Given the description of an element on the screen output the (x, y) to click on. 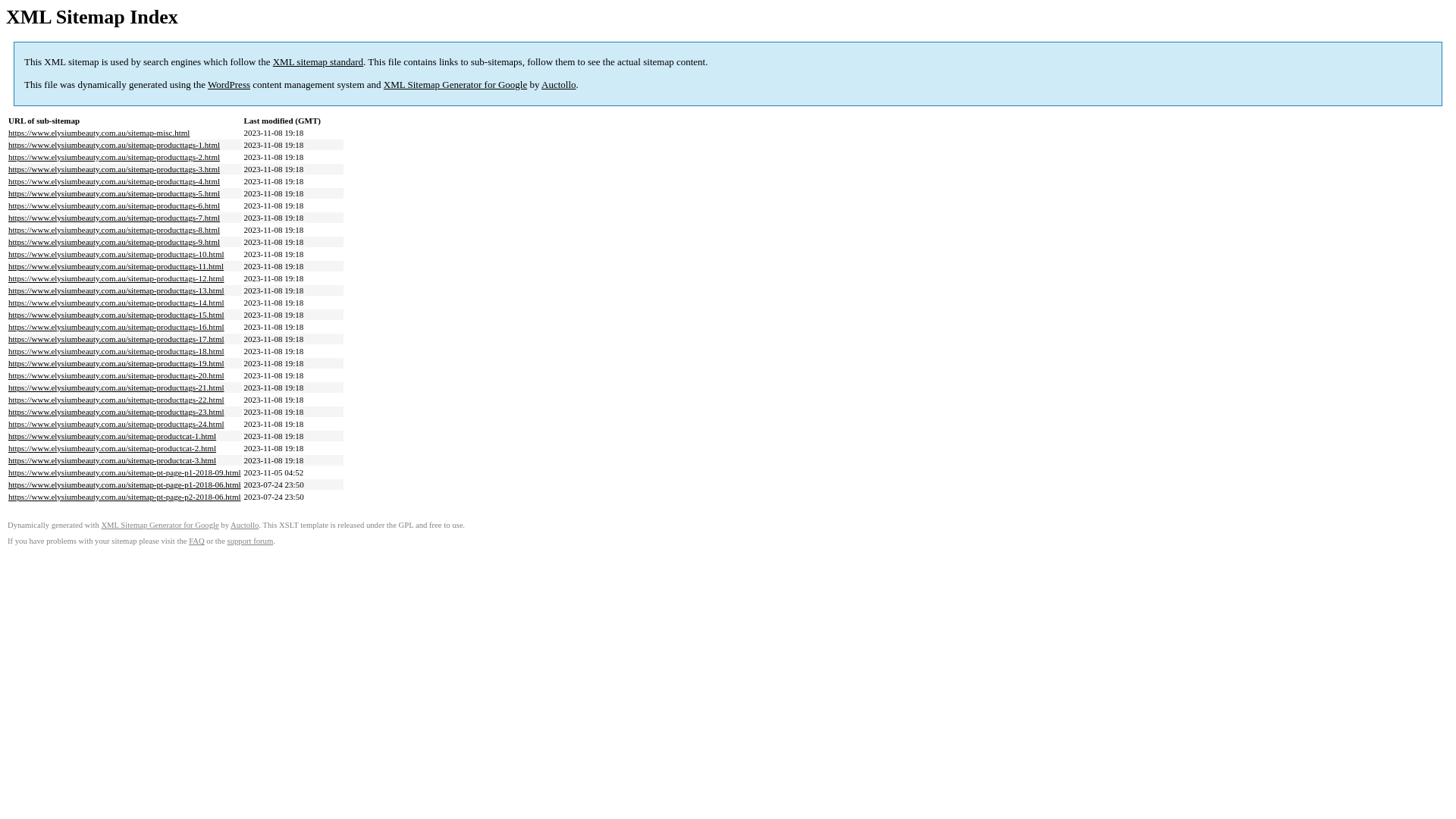
https://www.elysiumbeauty.com.au/sitemap-producttags-2.html Element type: text (113, 156)
XML Sitemap Generator for Google Element type: text (159, 524)
https://www.elysiumbeauty.com.au/sitemap-producttags-17.html Element type: text (116, 338)
https://www.elysiumbeauty.com.au/sitemap-producttags-16.html Element type: text (116, 326)
https://www.elysiumbeauty.com.au/sitemap-producttags-4.html Element type: text (113, 180)
https://www.elysiumbeauty.com.au/sitemap-producttags-23.html Element type: text (116, 411)
Auctollo Element type: text (244, 524)
https://www.elysiumbeauty.com.au/sitemap-producttags-12.html Element type: text (116, 277)
https://www.elysiumbeauty.com.au/sitemap-producttags-19.html Element type: text (116, 362)
https://www.elysiumbeauty.com.au/sitemap-misc.html Element type: text (98, 132)
https://www.elysiumbeauty.com.au/sitemap-producttags-1.html Element type: text (113, 144)
https://www.elysiumbeauty.com.au/sitemap-producttags-15.html Element type: text (116, 314)
https://www.elysiumbeauty.com.au/sitemap-productcat-2.html Element type: text (112, 447)
https://www.elysiumbeauty.com.au/sitemap-producttags-10.html Element type: text (116, 253)
Auctollo Element type: text (558, 84)
https://www.elysiumbeauty.com.au/sitemap-producttags-21.html Element type: text (116, 387)
XML Sitemap Generator for Google Element type: text (455, 84)
https://www.elysiumbeauty.com.au/sitemap-producttags-7.html Element type: text (113, 217)
https://www.elysiumbeauty.com.au/sitemap-producttags-13.html Element type: text (116, 289)
https://www.elysiumbeauty.com.au/sitemap-producttags-8.html Element type: text (113, 229)
https://www.elysiumbeauty.com.au/sitemap-producttags-22.html Element type: text (116, 399)
WordPress Element type: text (228, 84)
https://www.elysiumbeauty.com.au/sitemap-producttags-9.html Element type: text (113, 241)
https://www.elysiumbeauty.com.au/sitemap-producttags-3.html Element type: text (113, 168)
https://www.elysiumbeauty.com.au/sitemap-producttags-5.html Element type: text (113, 192)
FAQ Element type: text (196, 540)
https://www.elysiumbeauty.com.au/sitemap-producttags-18.html Element type: text (116, 350)
https://www.elysiumbeauty.com.au/sitemap-productcat-3.html Element type: text (112, 459)
support forum Element type: text (250, 540)
https://www.elysiumbeauty.com.au/sitemap-producttags-20.html Element type: text (116, 374)
https://www.elysiumbeauty.com.au/sitemap-producttags-11.html Element type: text (115, 265)
XML sitemap standard Element type: text (318, 61)
https://www.elysiumbeauty.com.au/sitemap-productcat-1.html Element type: text (112, 435)
https://www.elysiumbeauty.com.au/sitemap-producttags-14.html Element type: text (116, 302)
https://www.elysiumbeauty.com.au/sitemap-producttags-6.html Element type: text (113, 205)
https://www.elysiumbeauty.com.au/sitemap-producttags-24.html Element type: text (116, 423)
